Given the description of an element on the screen output the (x, y) to click on. 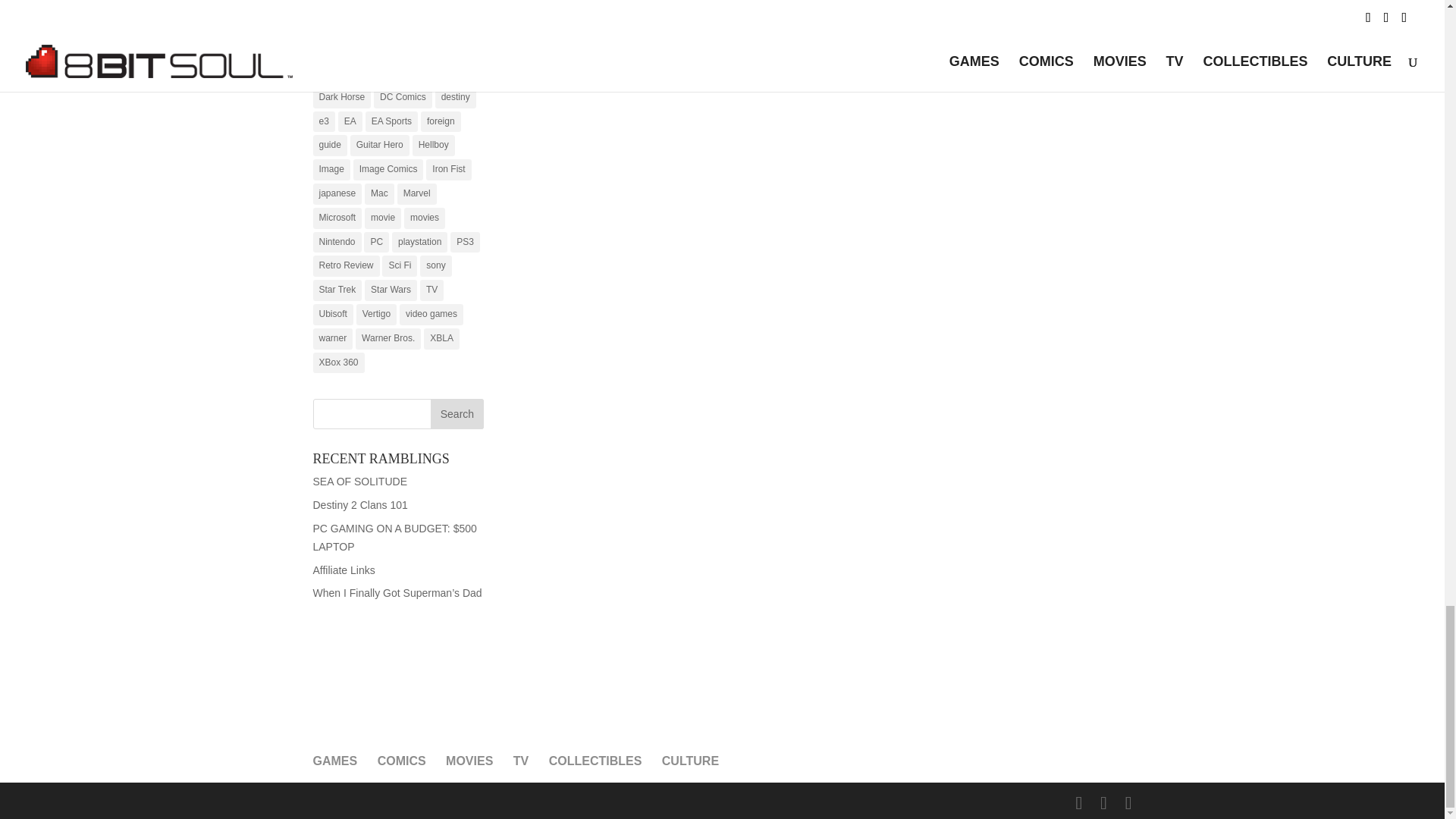
EA (349, 121)
Batman (374, 25)
DC Comics (403, 97)
EA Sports (391, 121)
e3 (323, 121)
anime (331, 25)
Dark Horse (342, 97)
comics books (389, 73)
Activision (377, 6)
action (331, 6)
comics (332, 73)
animation (431, 6)
Search (456, 413)
Battlestar Galactica (358, 48)
destiny (455, 97)
